Given the description of an element on the screen output the (x, y) to click on. 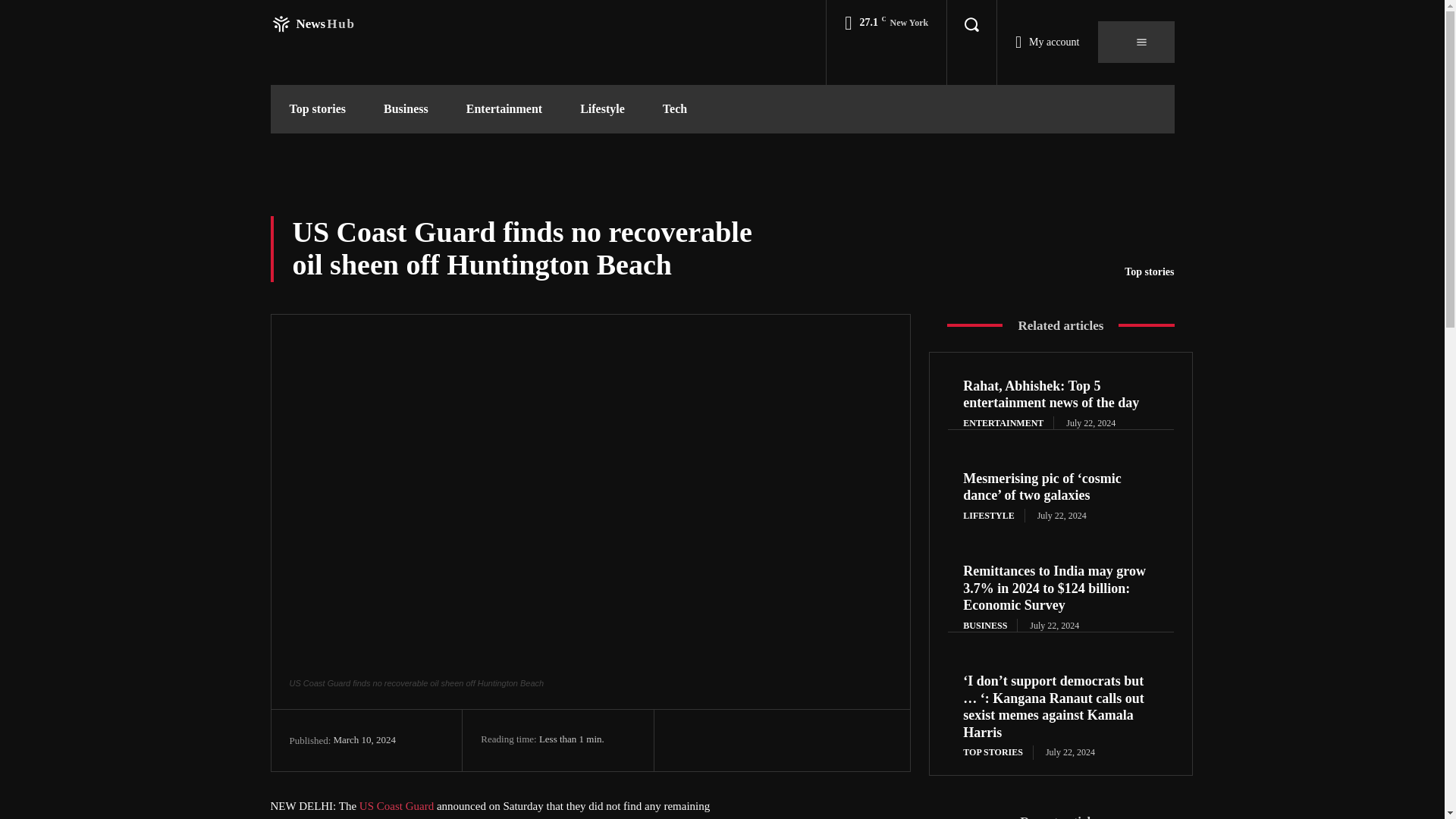
Business (312, 24)
Top stories (405, 109)
Tech (317, 109)
Latest For Me (674, 109)
US Coast Guard (312, 24)
Top stories (396, 806)
Lifestyle (1148, 272)
Entertainment (601, 109)
